Given the description of an element on the screen output the (x, y) to click on. 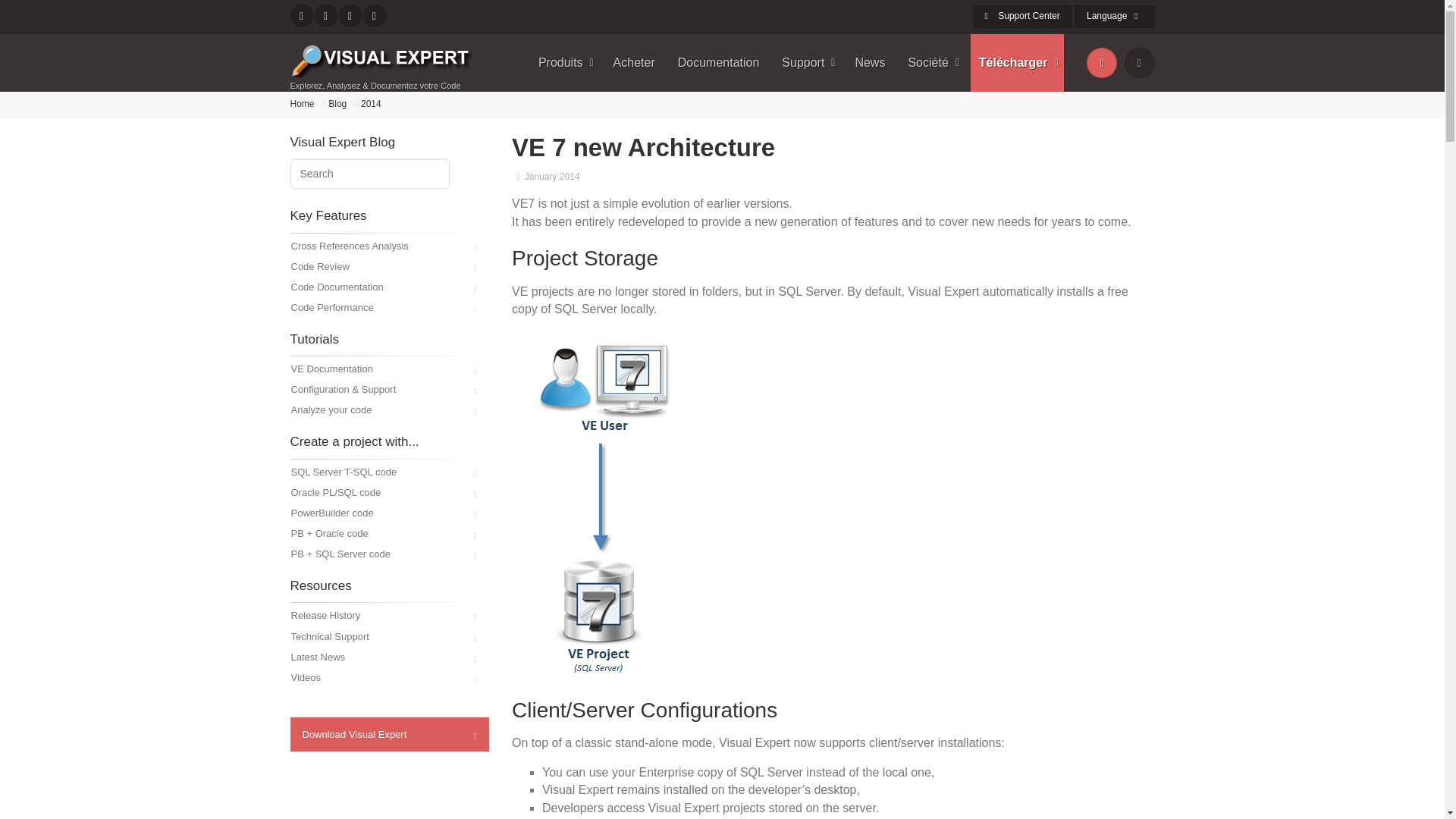
Support Center (1021, 15)
Acheter (634, 62)
Support (806, 62)
Produits (563, 62)
Documentation (718, 62)
Language (1114, 15)
